Given the description of an element on the screen output the (x, y) to click on. 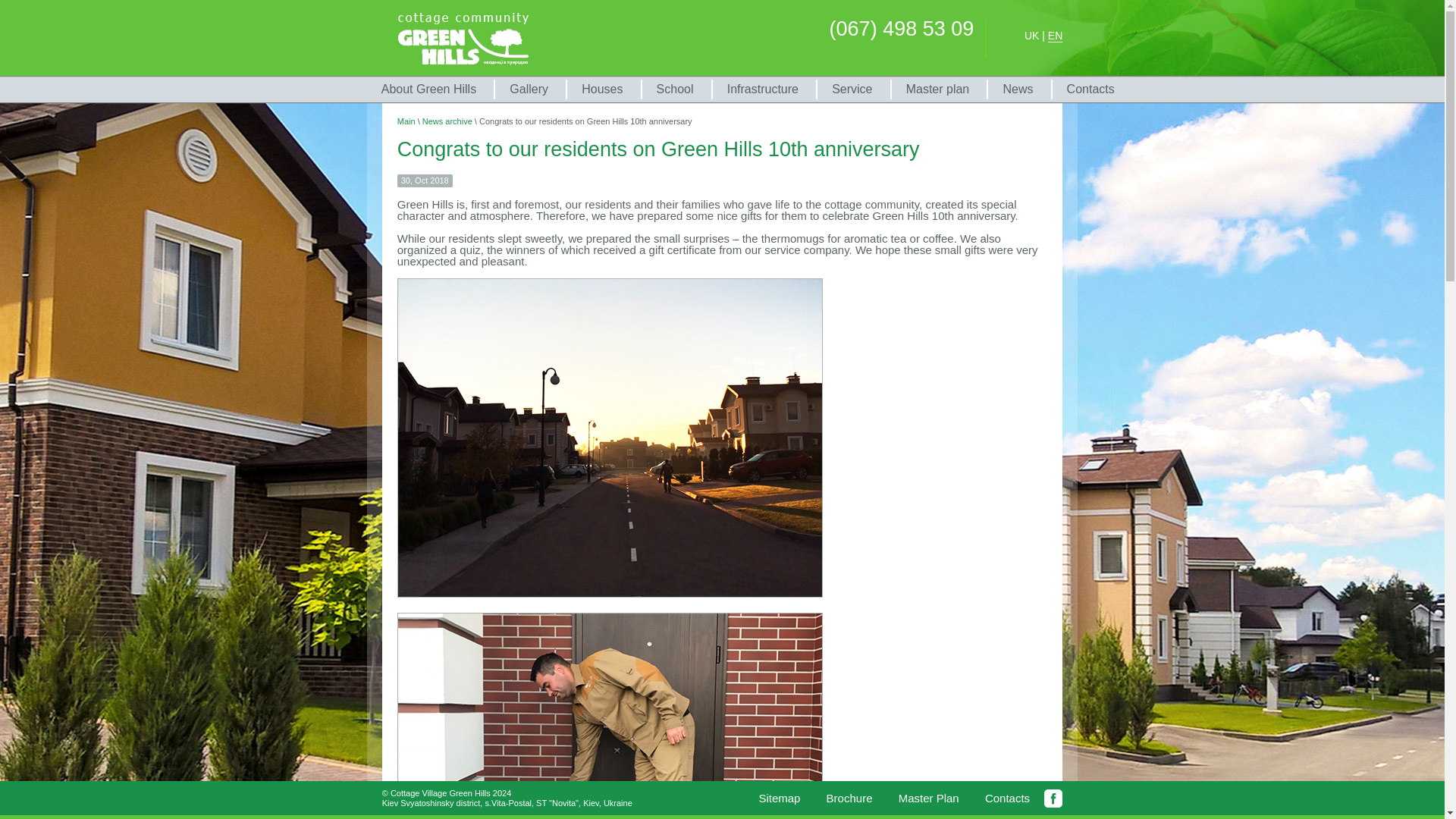
EN (1055, 36)
Master plan (936, 89)
Master Plan (928, 797)
Houses (601, 89)
About Green Hills (428, 89)
News (1016, 89)
School (673, 89)
Contacts (1090, 89)
Main (405, 121)
News archive (446, 121)
UK (1032, 35)
Green Hills (463, 38)
Service (850, 89)
Contacts (1007, 797)
Brochure (849, 797)
